Given the description of an element on the screen output the (x, y) to click on. 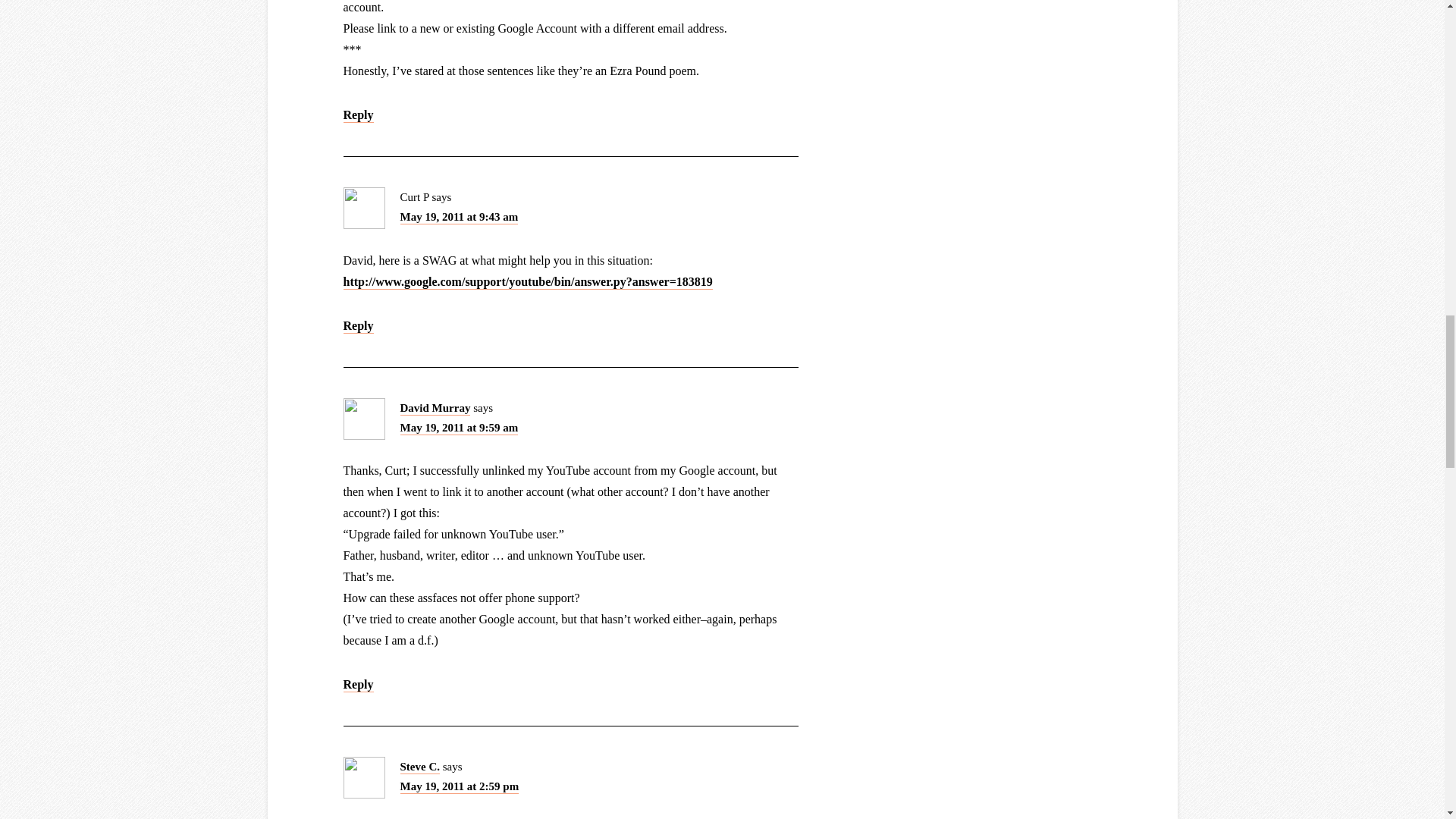
Reply (357, 325)
David Murray (435, 408)
May 19, 2011 at 9:59 am (459, 427)
Steve C. (420, 766)
May 19, 2011 at 2:59 pm (459, 786)
Reply (357, 685)
Reply (357, 115)
May 19, 2011 at 9:43 am (459, 217)
